Given the description of an element on the screen output the (x, y) to click on. 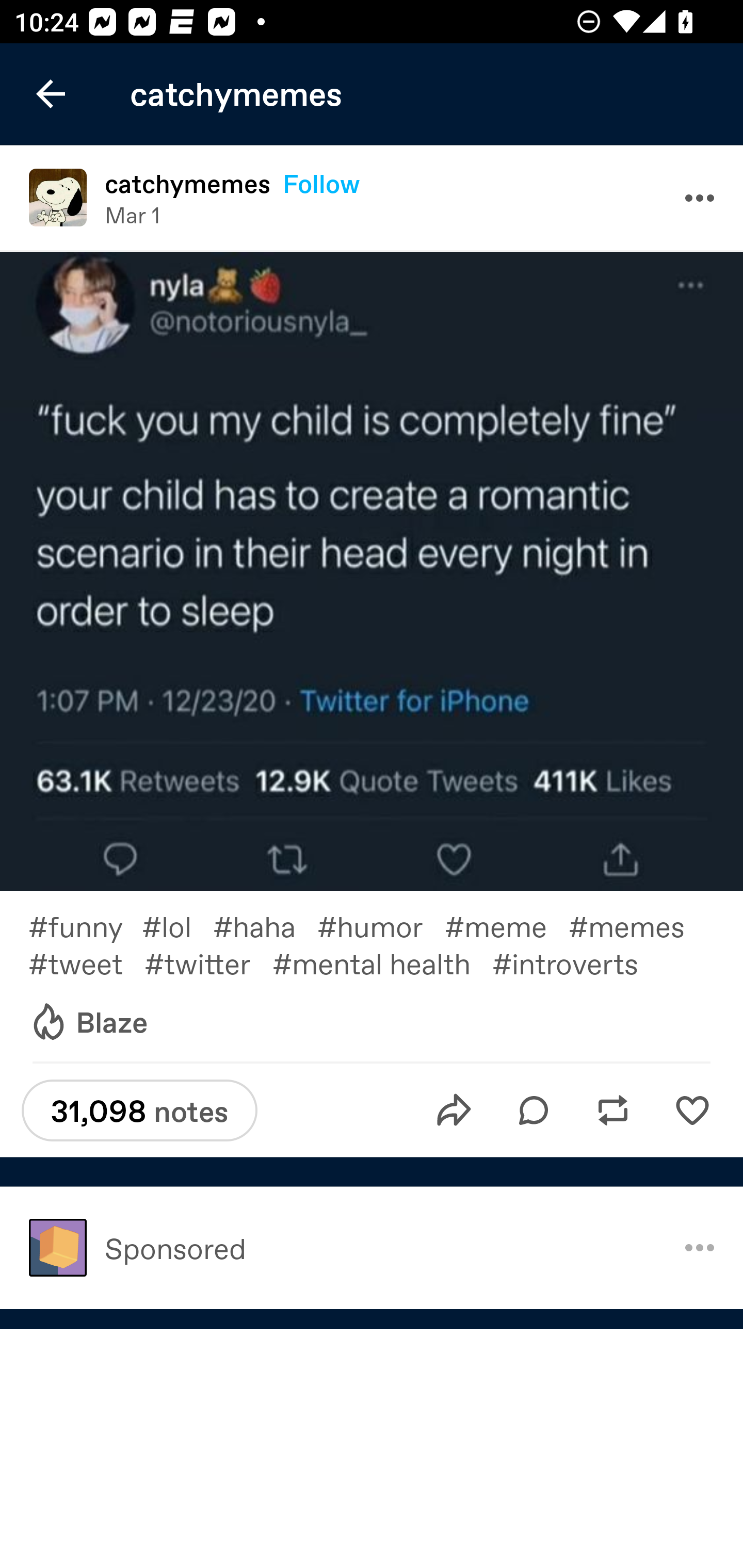
Navigate up (50, 93)
Follow (321, 183)
#funny (84, 925)
#lol (177, 925)
#haha (265, 925)
#humor (381, 925)
#meme (506, 925)
#memes (637, 925)
#tweet (86, 962)
#twitter (208, 962)
#mental health (381, 962)
#introverts (579, 962)
Blaze Blaze Blaze (88, 1022)
Share post to message (454, 1110)
Reply (533, 1110)
Reblog (612, 1110)
Like (691, 1110)
31,098 notes (139, 1109)
Why do I see this ad? (699, 1247)
